Given the description of an element on the screen output the (x, y) to click on. 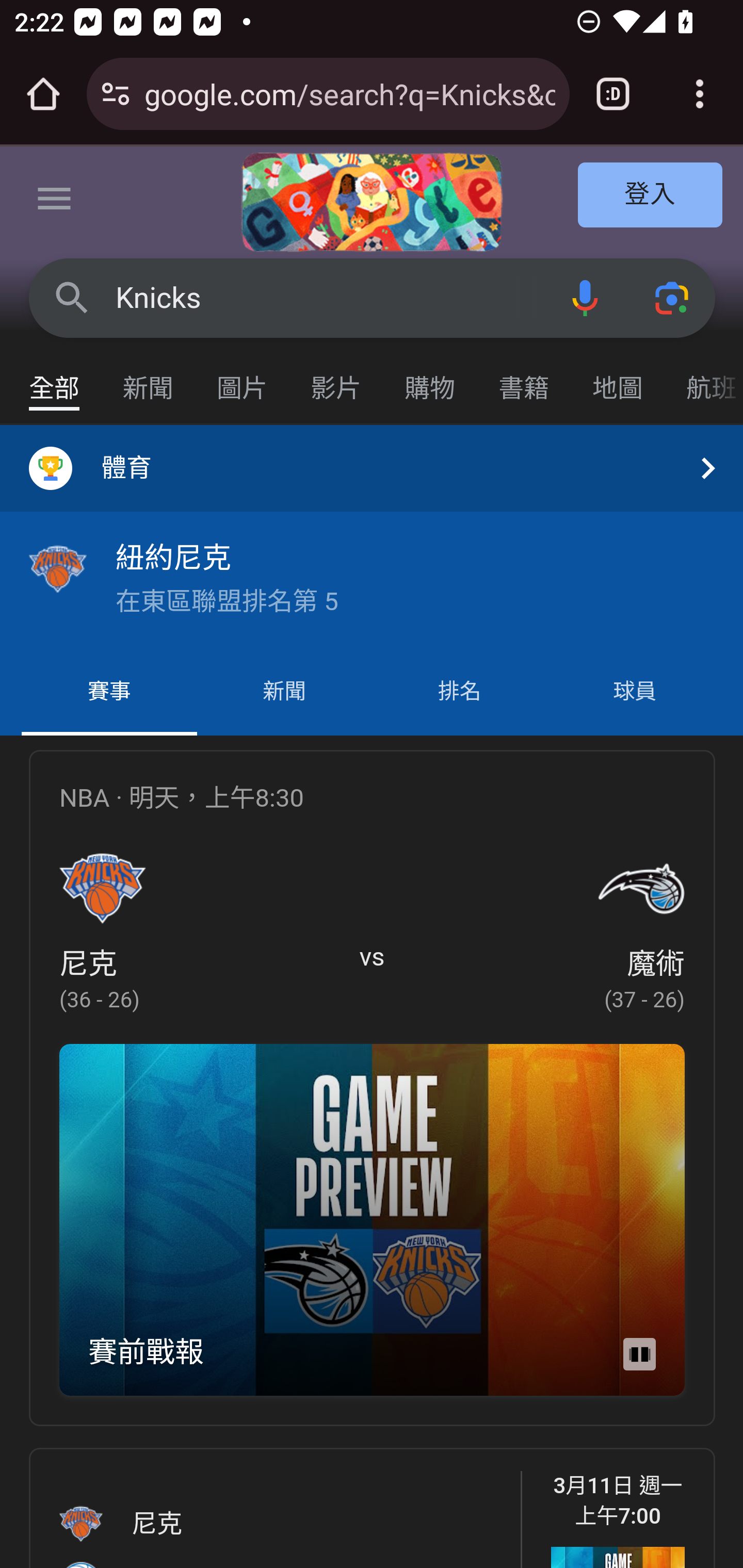
Open the home page (43, 93)
Connection is secure (115, 93)
Switch or close tabs (612, 93)
Customize and control Google Chrome (699, 93)
2024 年國際婦女節 (371, 202)
主選單 (54, 202)
登入 (650, 195)
Google 搜尋 (71, 296)
使用相機或相片搜尋 (672, 296)
Knicks (328, 297)
新聞 (148, 378)
圖片 (242, 378)
影片 (336, 378)
購物 (430, 378)
書籍 (524, 378)
地圖 (618, 378)
航班 (703, 378)
體育 紐約尼克 在東區聯盟排名第 5 體育 紐約尼克 在東區聯盟排名第 5 (371, 536)
體育 (371, 467)
賽事 (109, 691)
新聞 (283, 691)
排名 (460, 691)
球員 (634, 691)
